Given the description of an element on the screen output the (x, y) to click on. 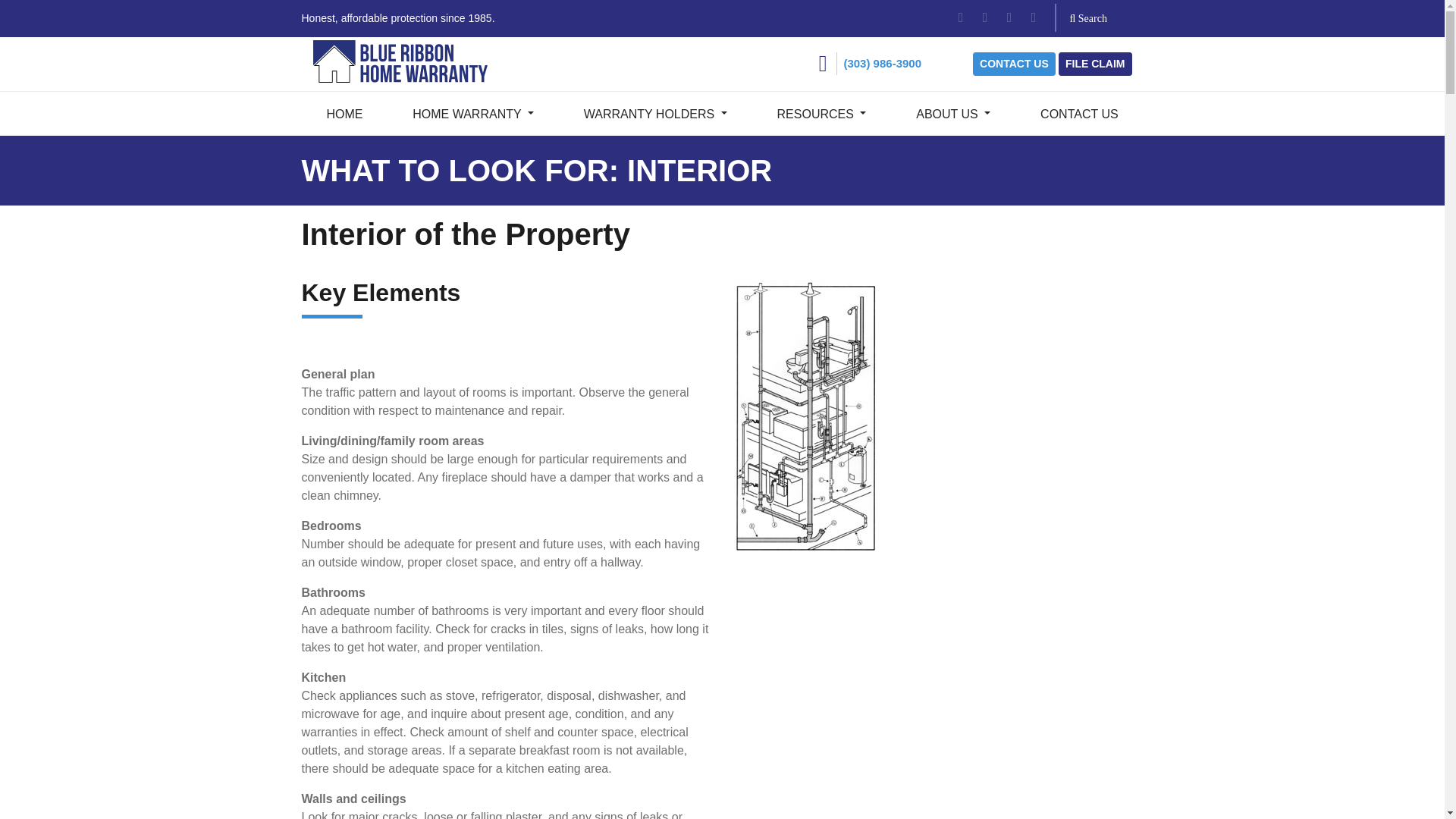
RESOURCES (821, 112)
CONTACT US (1013, 64)
ABOUT US (952, 112)
WARRANTY HOLDERS (655, 112)
Home Warranty (472, 112)
CONTACT US (1078, 112)
Home (344, 112)
HOME (344, 112)
FILE CLAIM (1095, 64)
Warranty Holders (655, 112)
HOME WARRANTY (472, 112)
Resources (821, 112)
About Us (952, 112)
Contact Us (1078, 112)
